Given the description of an element on the screen output the (x, y) to click on. 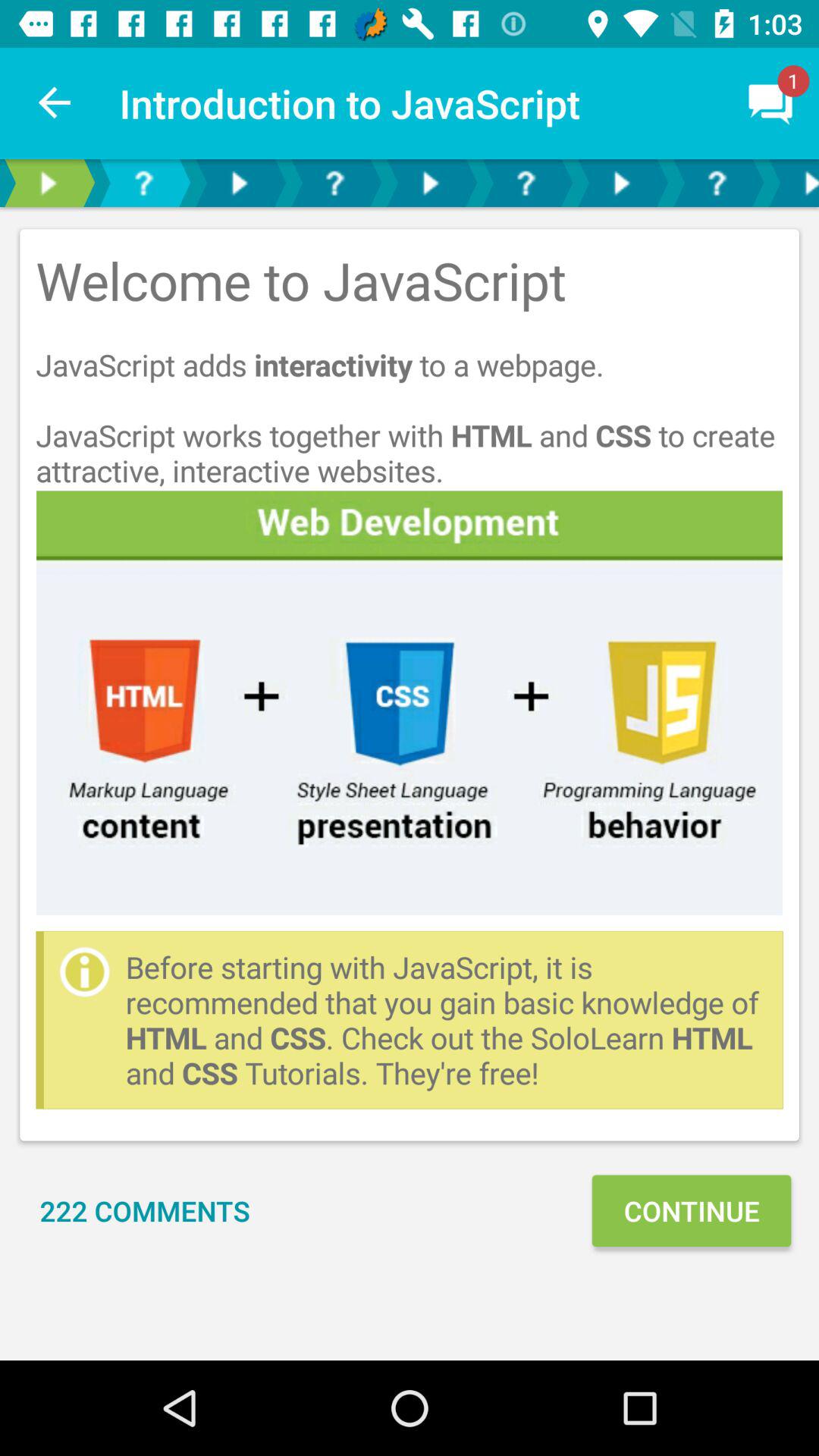
turn off the 222 comments (144, 1210)
